Given the description of an element on the screen output the (x, y) to click on. 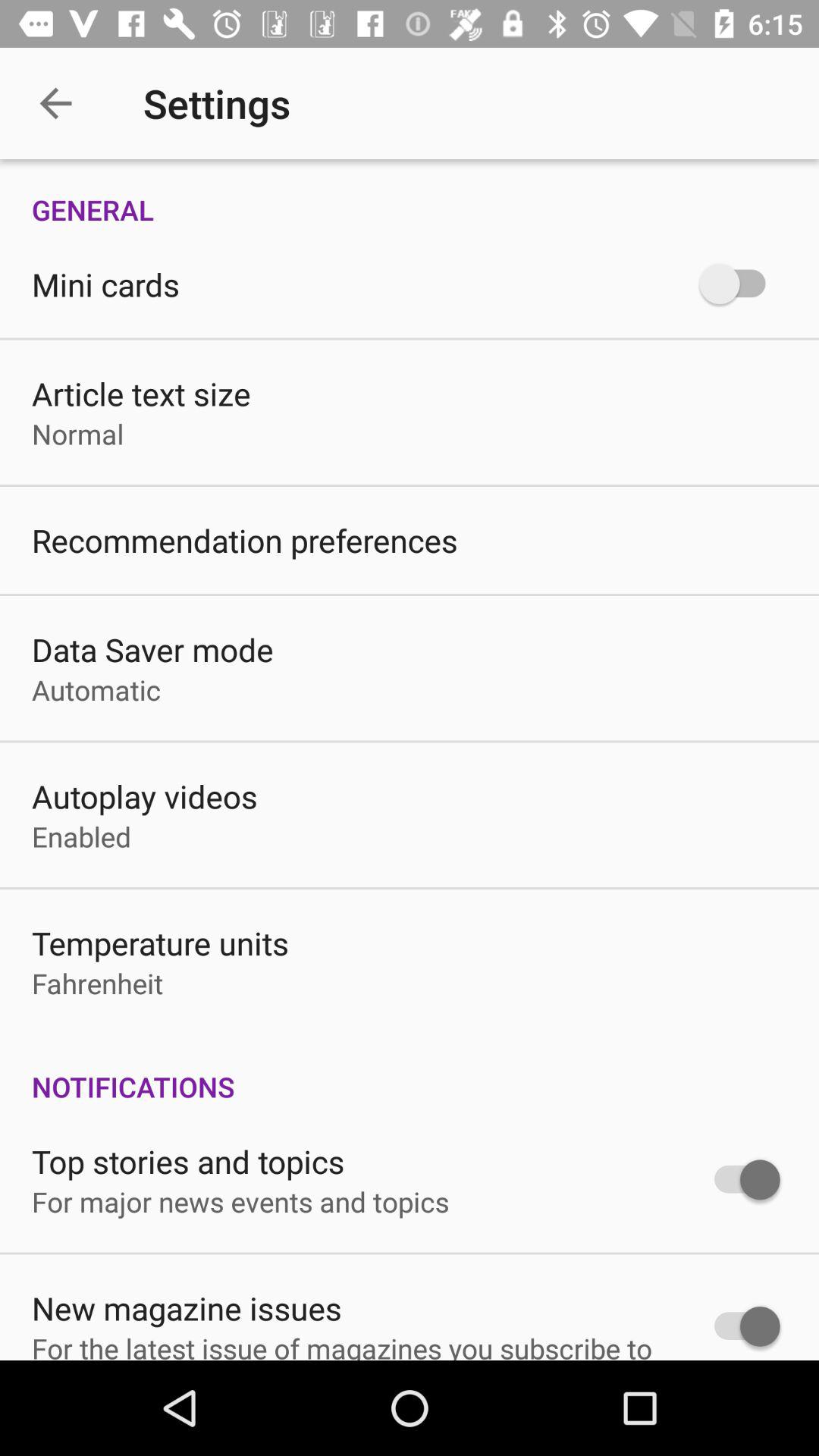
launch icon above the enabled (144, 795)
